Given the description of an element on the screen output the (x, y) to click on. 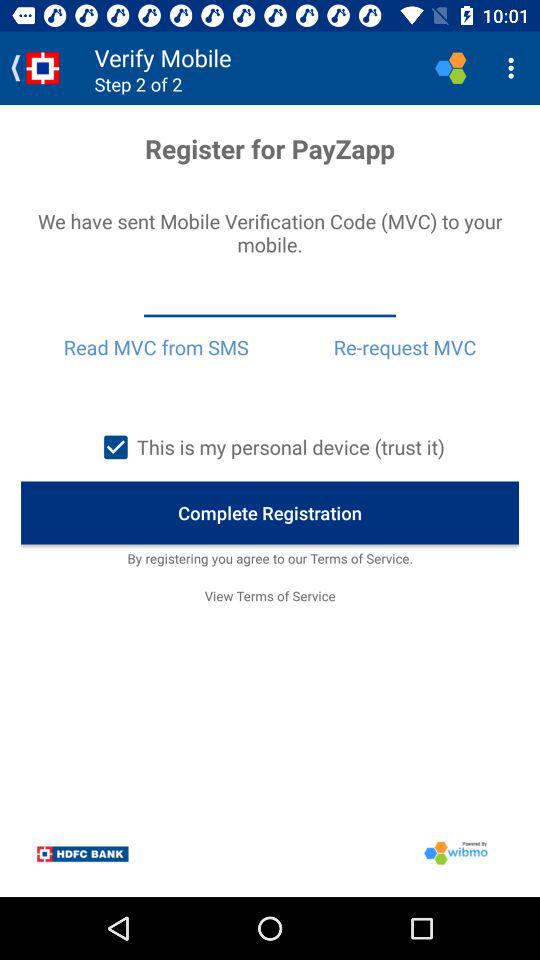
enter verification code (269, 299)
